Given the description of an element on the screen output the (x, y) to click on. 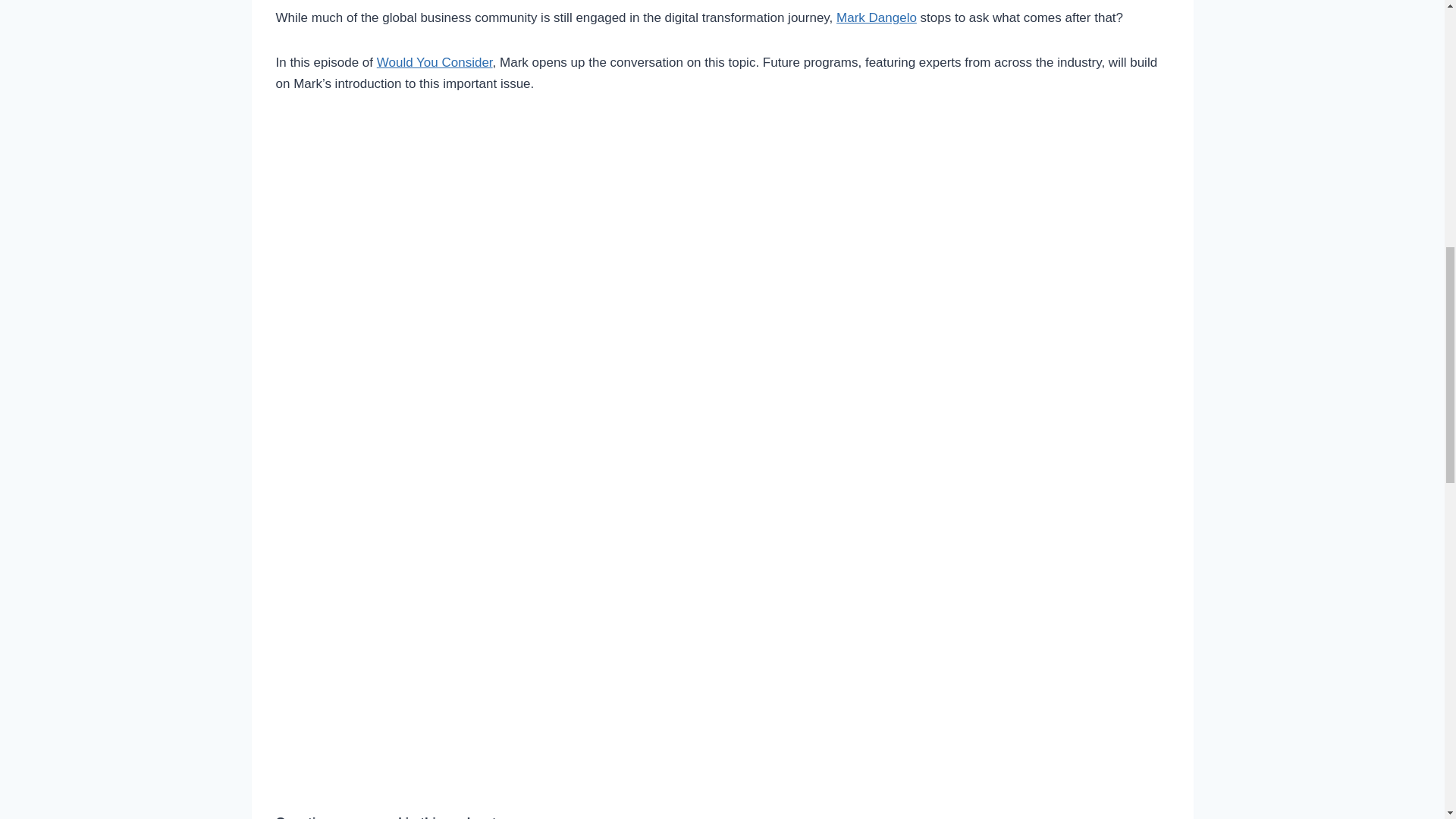
Mark Dangelo (876, 17)
Mark Dangelo (876, 17)
Would You Consider (435, 62)
Would You Consider (435, 62)
